Given the description of an element on the screen output the (x, y) to click on. 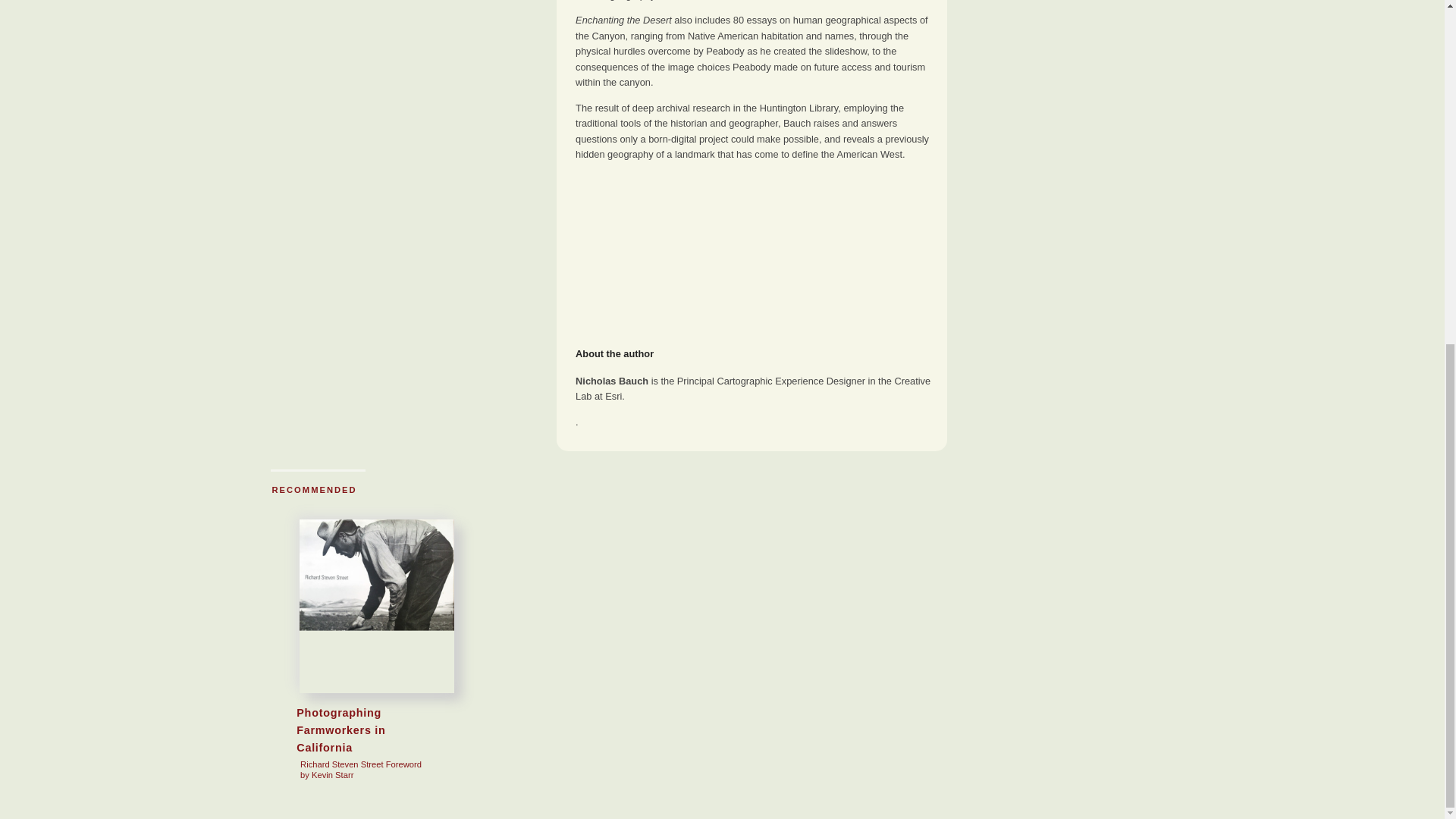
RECOMMENDED (313, 489)
